Given the description of an element on the screen output the (x, y) to click on. 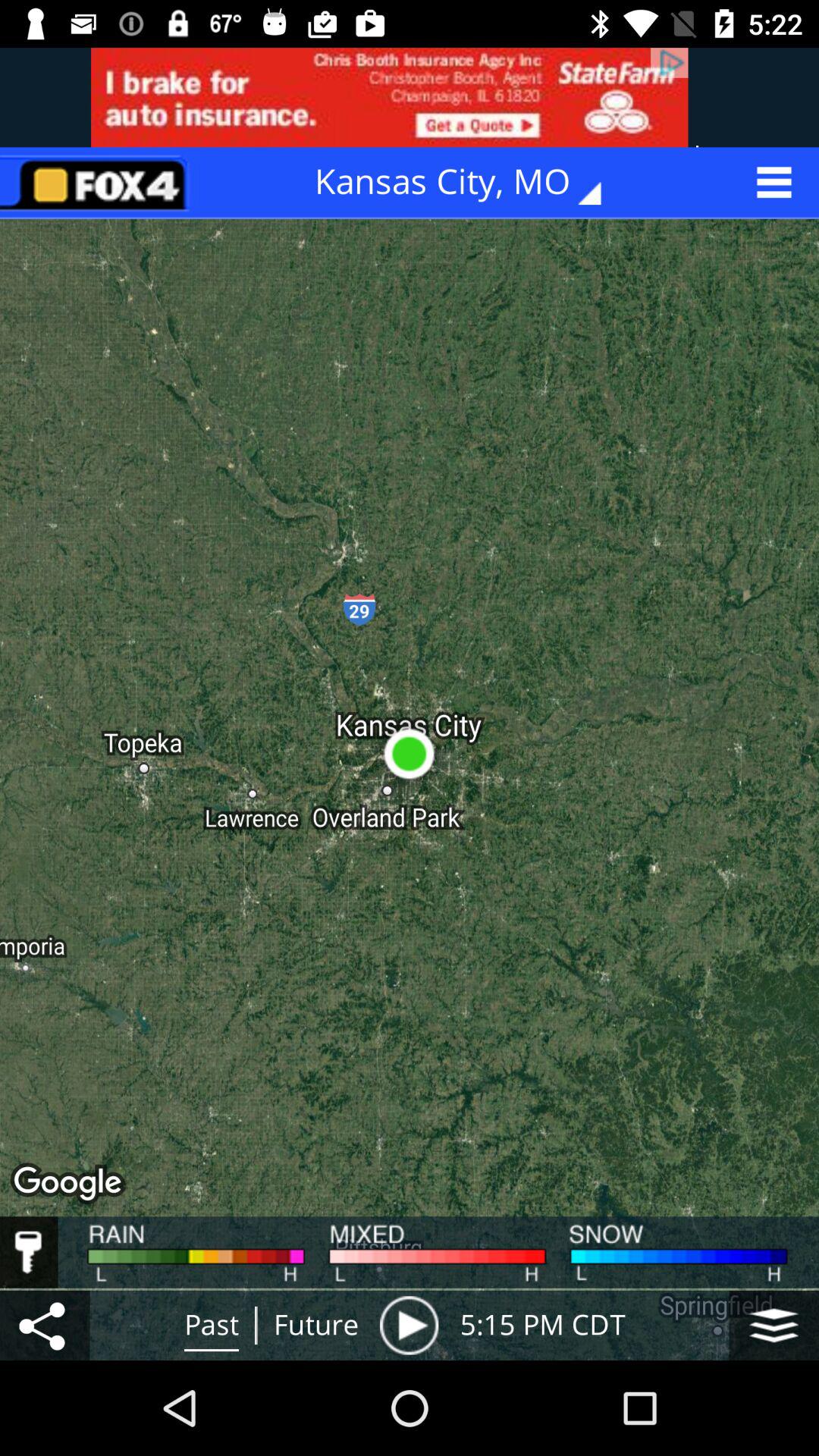
key buttons (29, 1252)
